Given the description of an element on the screen output the (x, y) to click on. 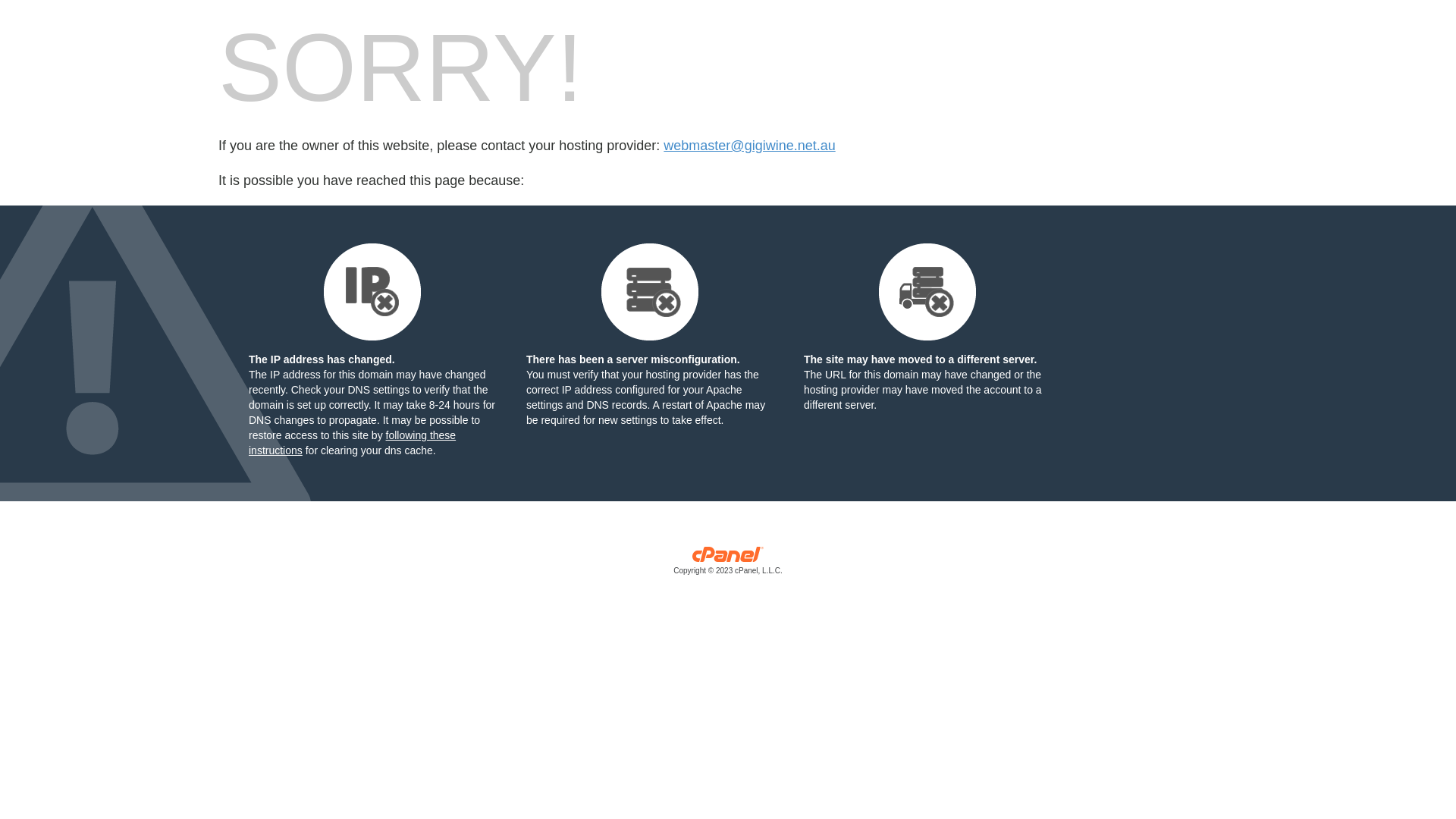
webmaster@gigiwine.net.au Element type: text (748, 145)
following these instructions Element type: text (351, 442)
